Given the description of an element on the screen output the (x, y) to click on. 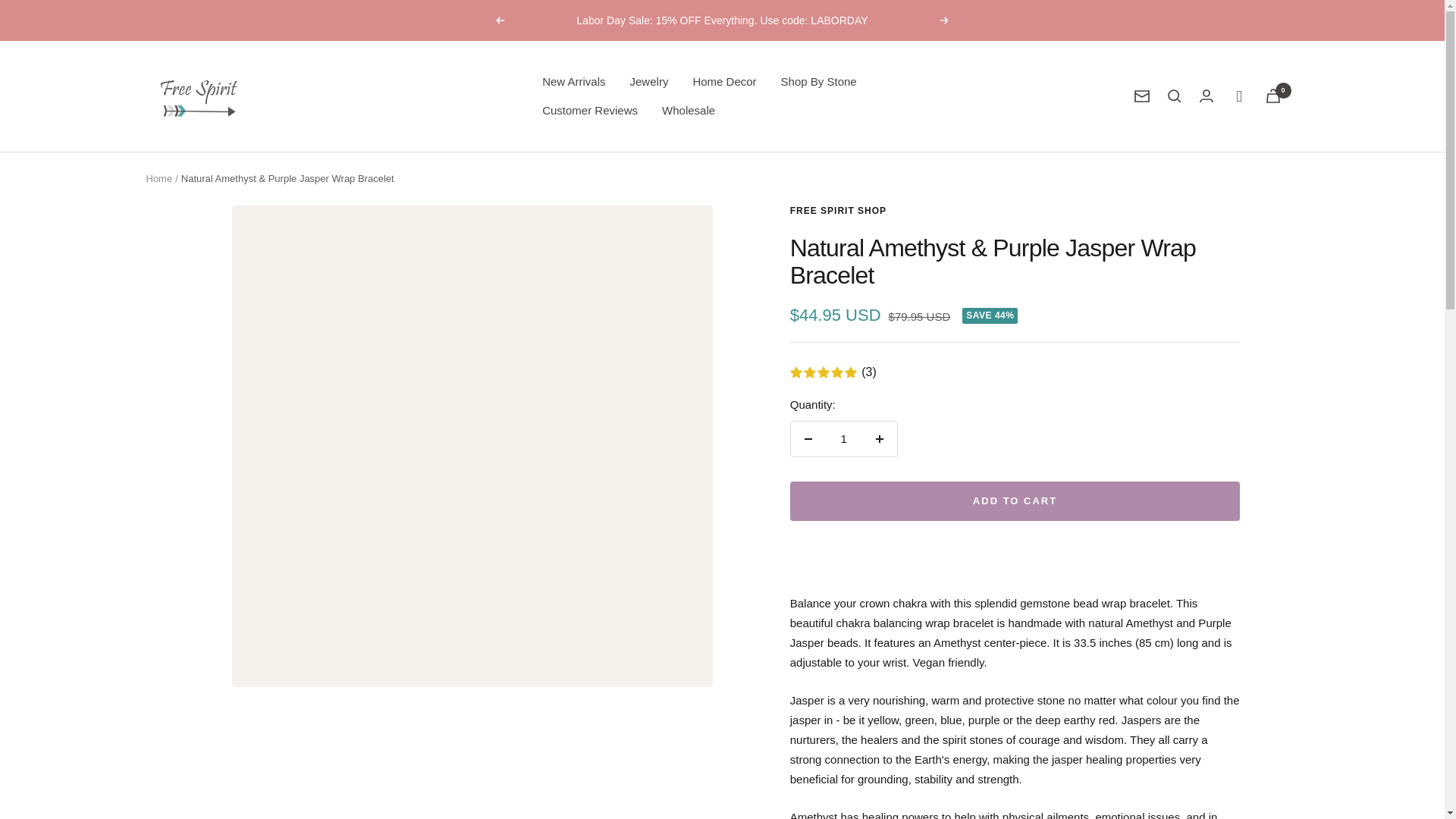
Next (944, 20)
Wholesale (688, 110)
New Arrivals (573, 81)
Home Decor (724, 81)
Shop By Stone (818, 81)
Free Spirit Shop (198, 95)
Previous (499, 20)
1 (843, 438)
0 (1273, 95)
Customer Reviews (589, 110)
